Given the description of an element on the screen output the (x, y) to click on. 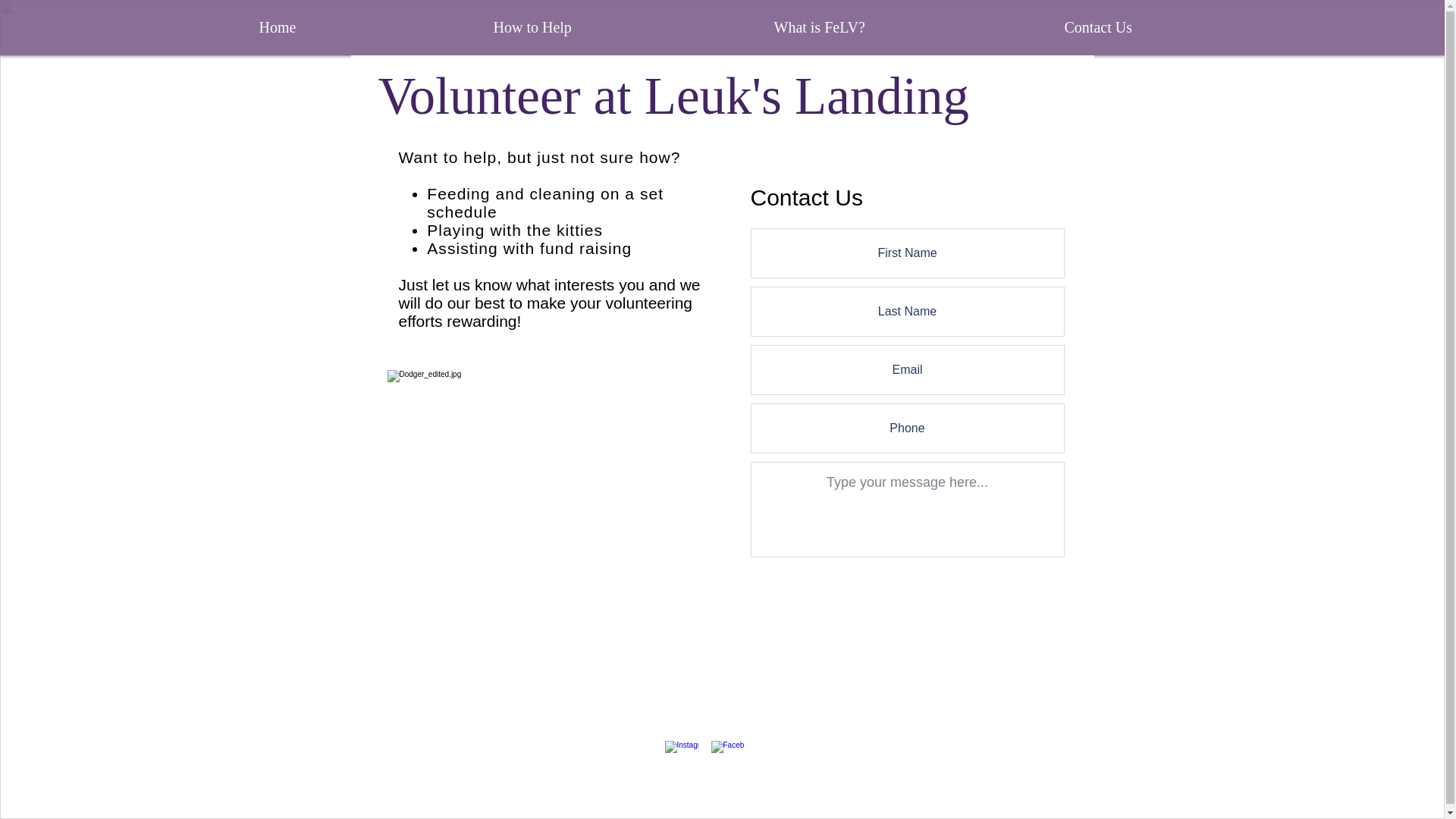
Contact Us (1187, 26)
How to Help (621, 26)
What is FeLV? (907, 26)
Wix.com (860, 779)
Home (364, 26)
